Given the description of an element on the screen output the (x, y) to click on. 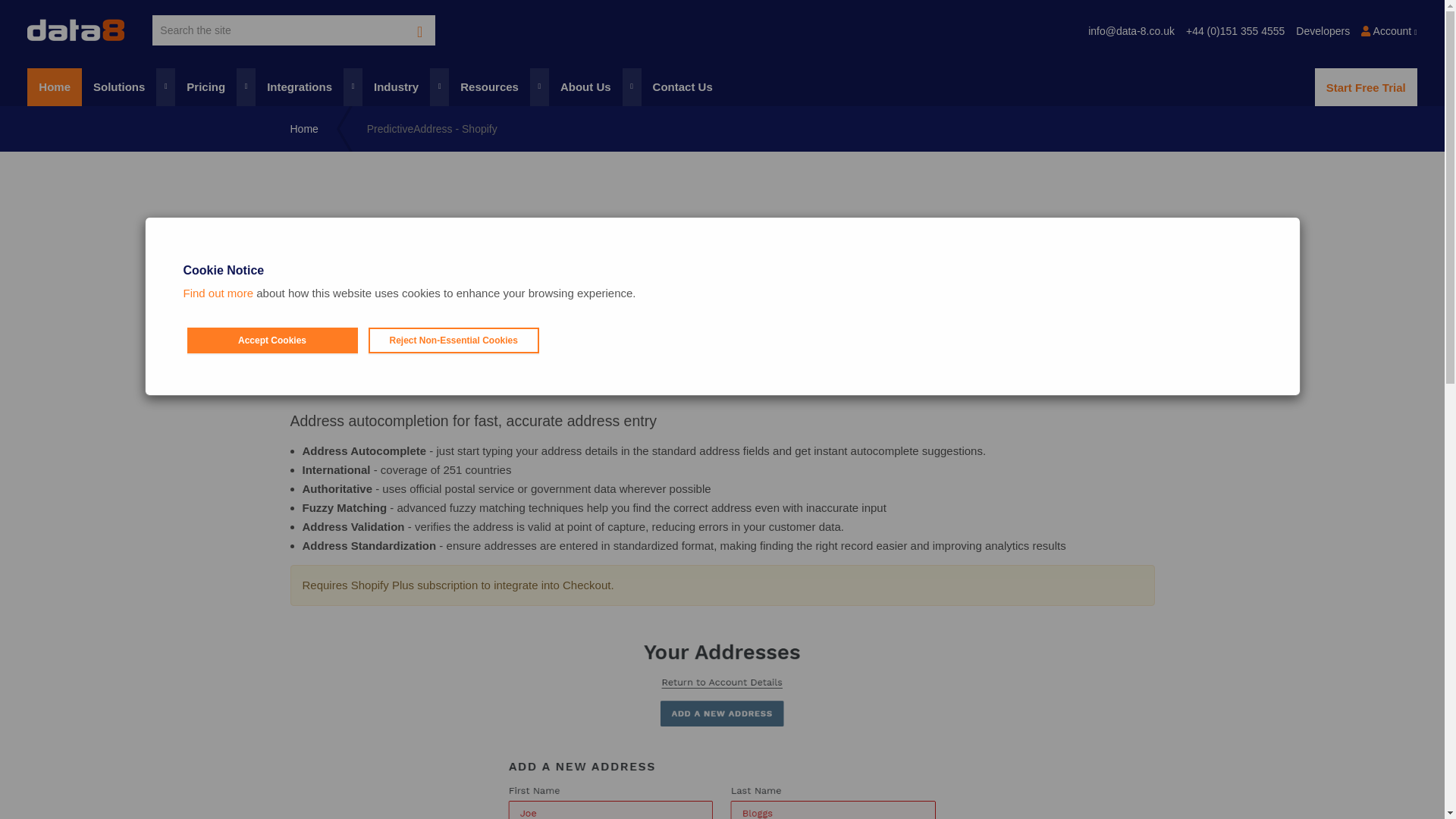
Pricing (215, 86)
Solutions (127, 86)
Cookie Policy (218, 292)
Home (54, 86)
Data8 (75, 30)
Account (1388, 27)
Start Free Trial (1365, 86)
Developers (1322, 27)
Skip to the content (721, 12)
Integrations (309, 86)
